Given the description of an element on the screen output the (x, y) to click on. 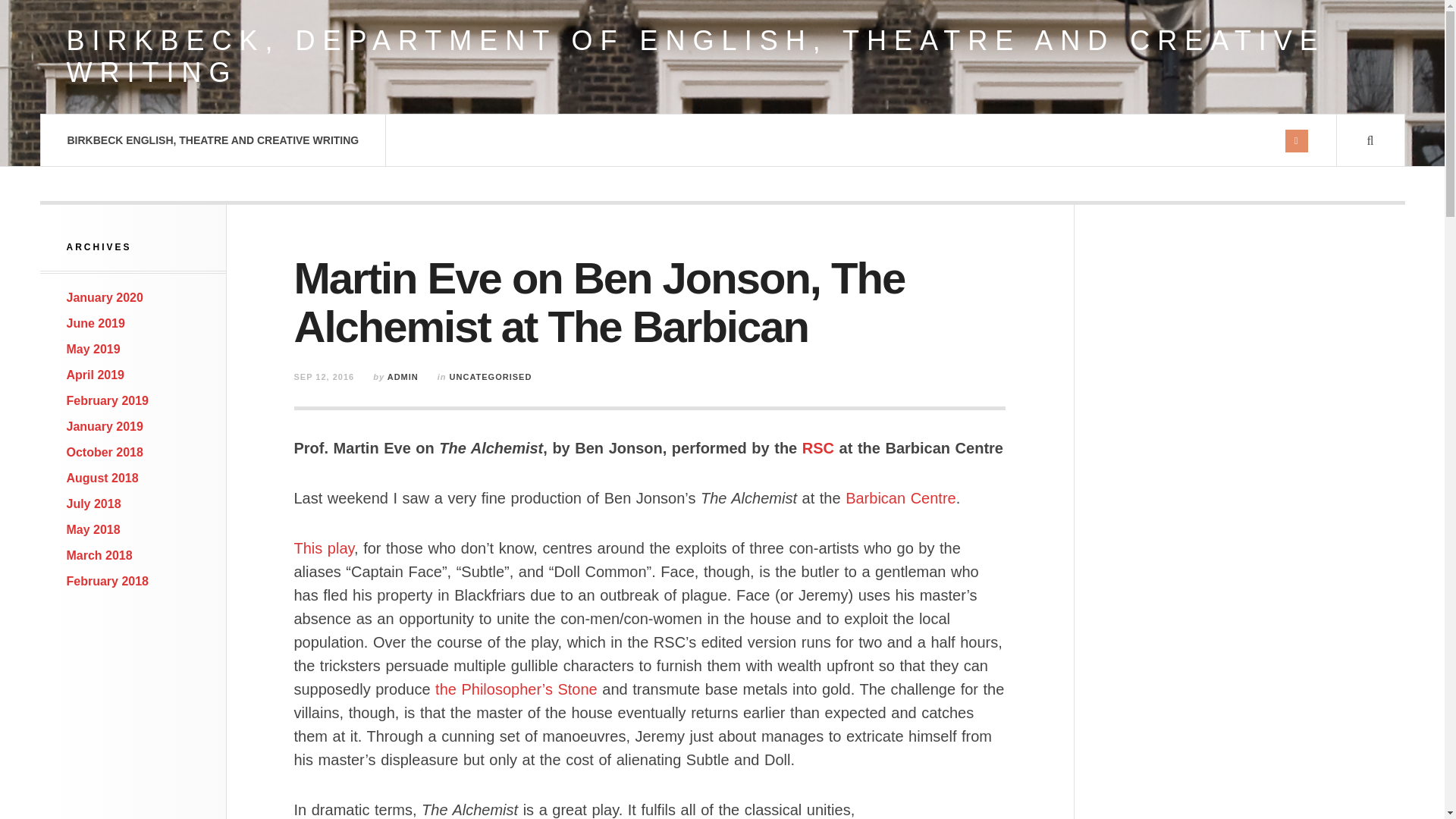
View all posts in Uncategorised (490, 376)
April 2019 (94, 374)
Barbican Centre (900, 497)
May 2019 (93, 349)
January 2020 (104, 297)
June 2019 (95, 323)
February 2019 (107, 400)
RSC (818, 447)
August 2018 (102, 477)
This play (324, 547)
October 2018 (104, 451)
UNCATEGORISED (490, 376)
May 2018 (93, 529)
February 2018 (107, 581)
